Given the description of an element on the screen output the (x, y) to click on. 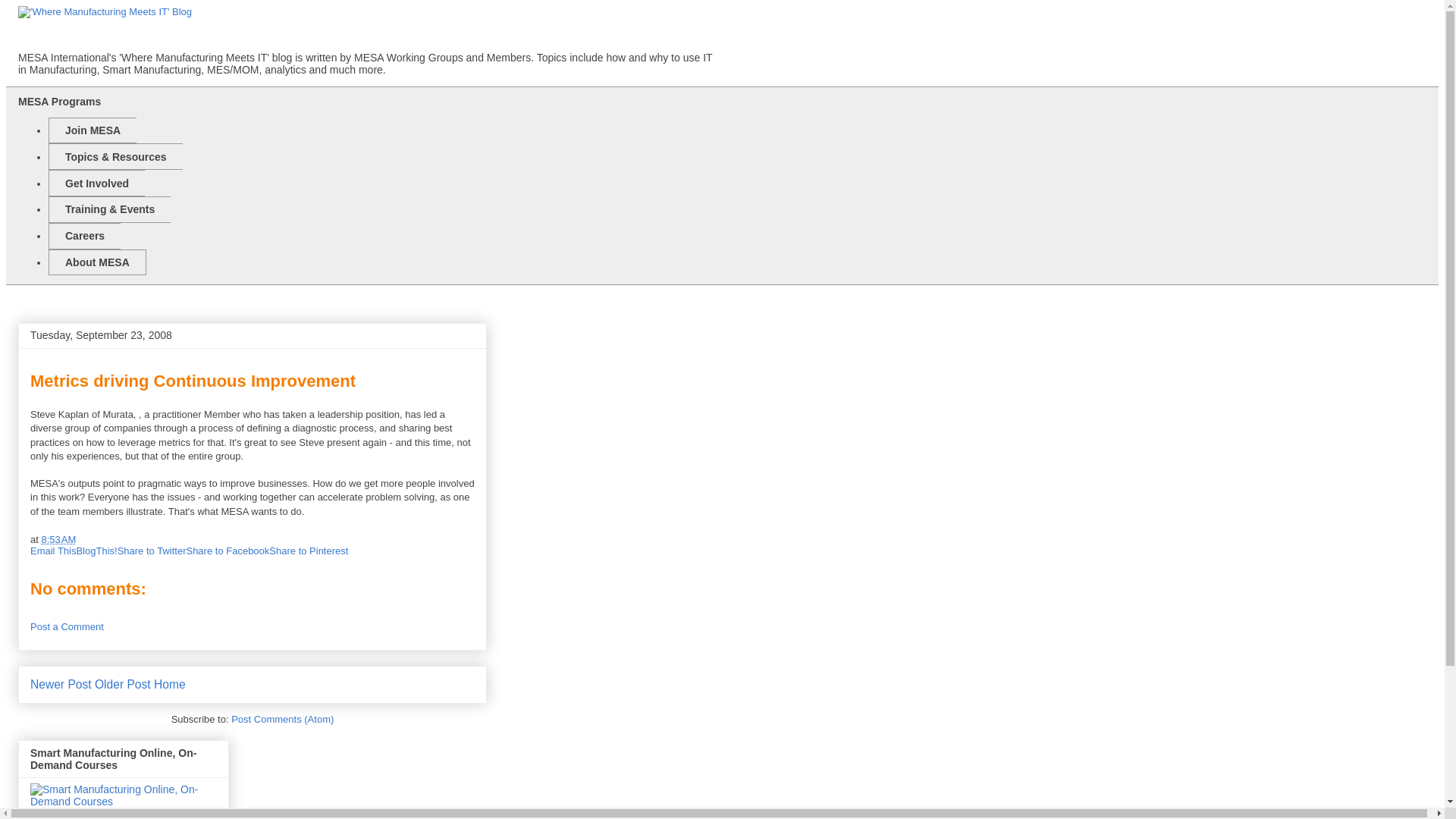
Older Post (122, 684)
Email Post (85, 539)
Join MESA (92, 130)
Newer Post (60, 684)
Share to Facebook (227, 550)
Get Involved (96, 182)
Share to Pinterest (308, 550)
permanent link (57, 539)
Post a Comment (66, 626)
